Given the description of an element on the screen output the (x, y) to click on. 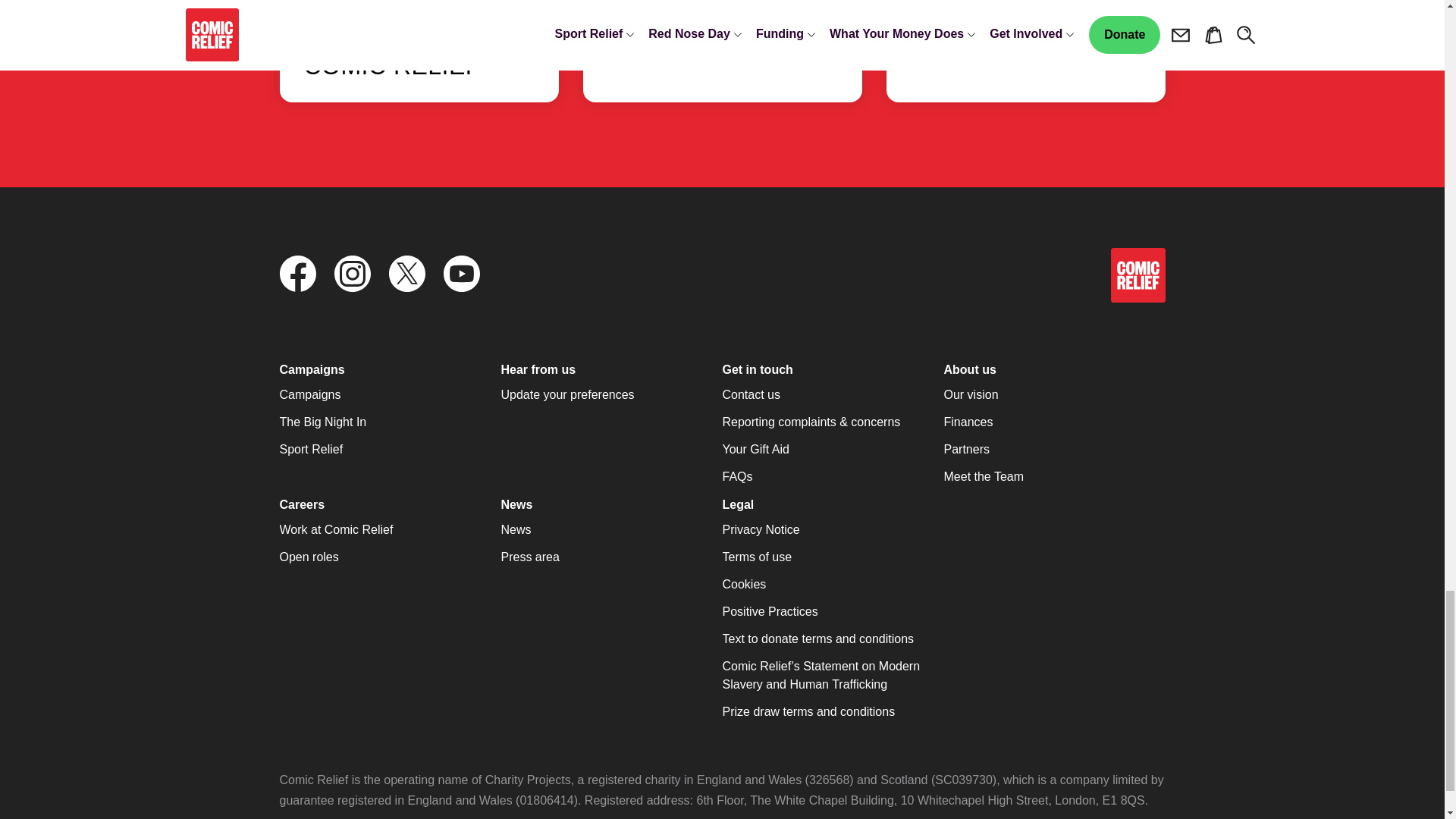
Check out our Twitter account (406, 274)
Check out our Facebook page (297, 274)
Check out our Instagram account (351, 274)
Check out our YouTube channel (460, 274)
Go to Comic Relief homepage (1136, 275)
